Given the description of an element on the screen output the (x, y) to click on. 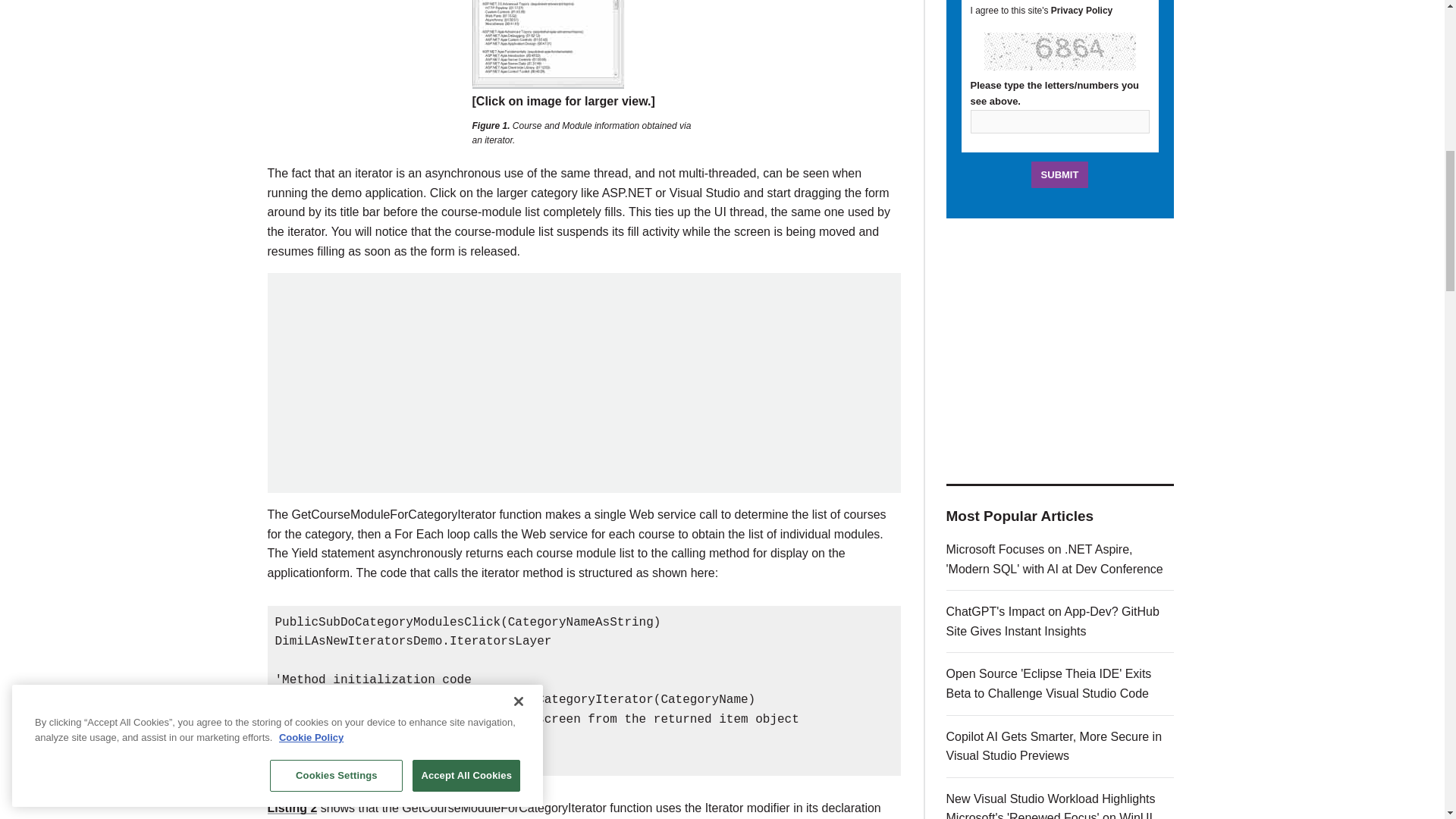
3rd party ad content (1059, 350)
Submit (1059, 174)
3rd party ad content (583, 382)
